Given the description of an element on the screen output the (x, y) to click on. 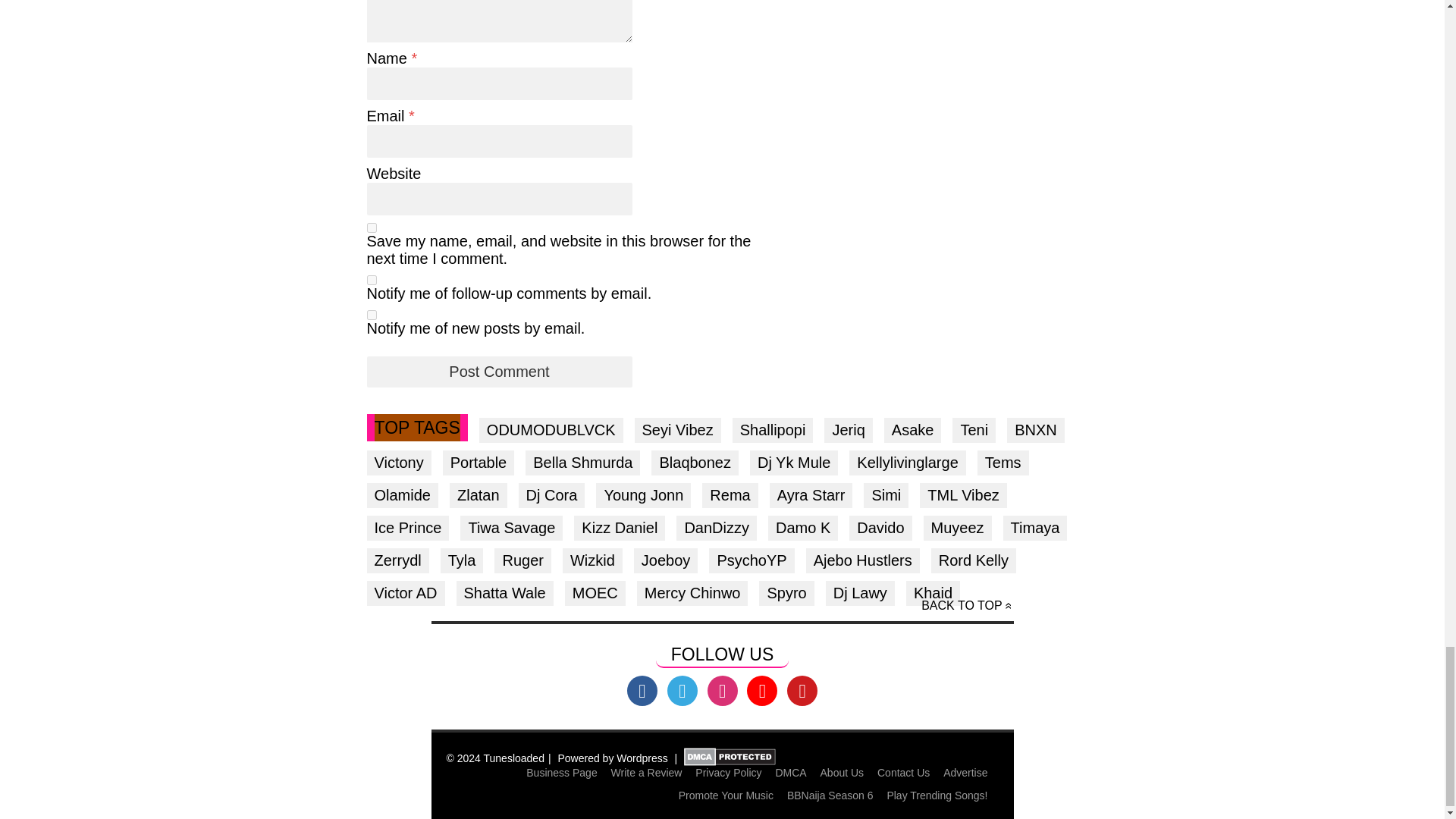
Post Comment (498, 371)
subscribe (371, 315)
subscribe (371, 280)
yes (371, 227)
